Given the description of an element on the screen output the (x, y) to click on. 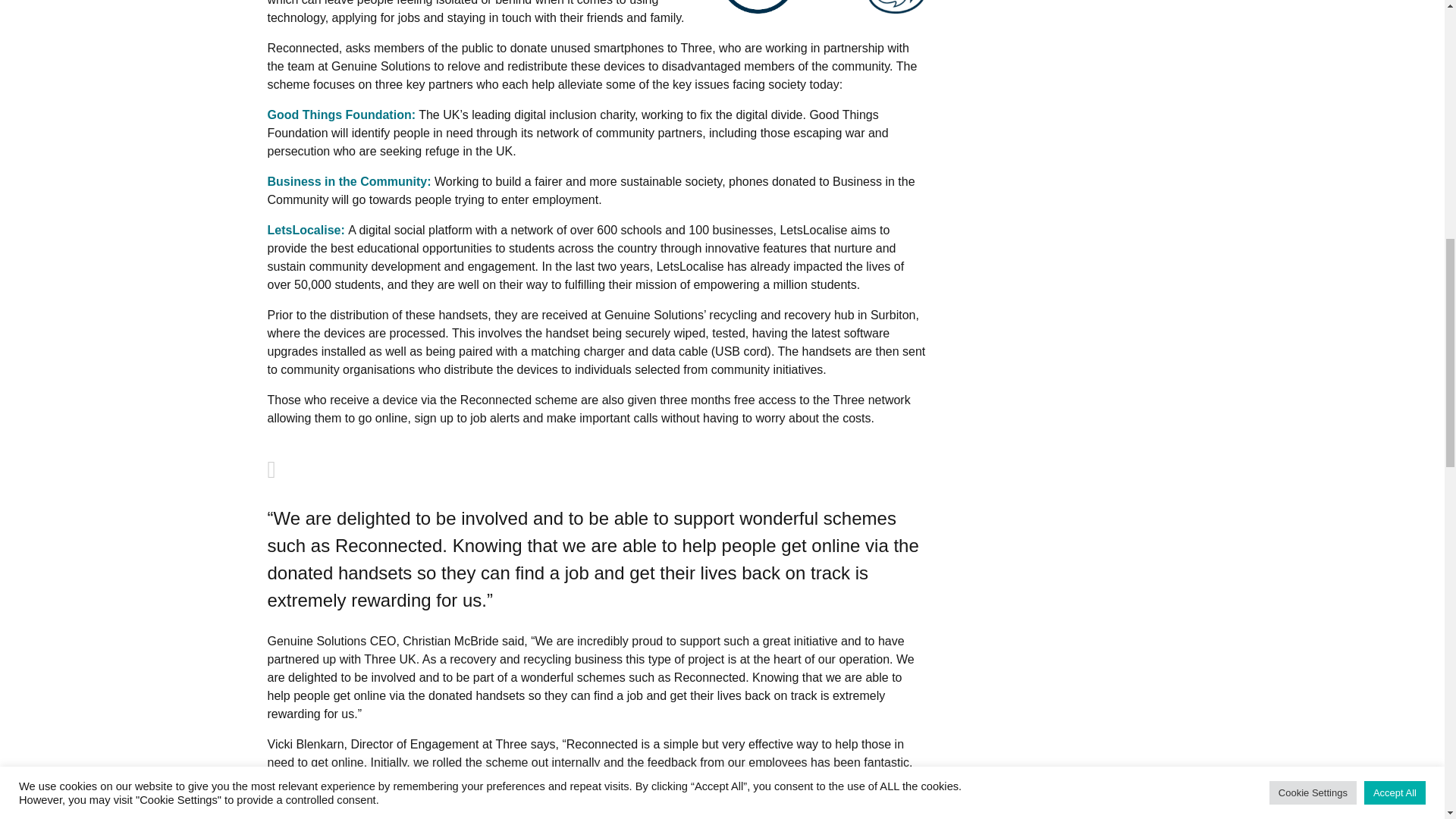
Business in the Community: (348, 181)
Good Things Foundation: (340, 114)
